Given the description of an element on the screen output the (x, y) to click on. 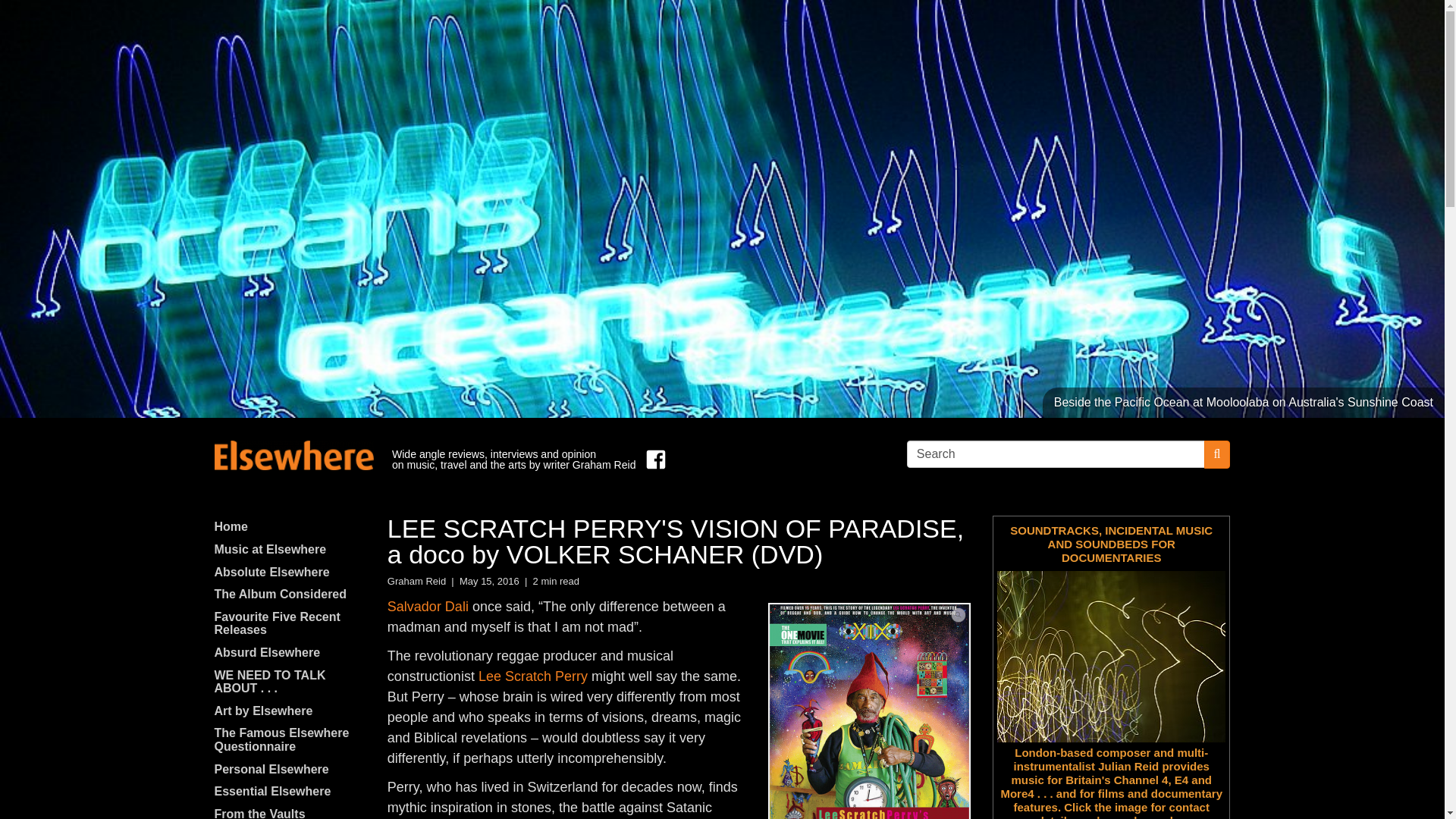
Search (1056, 453)
Elsewhere by Graham Reid (293, 455)
Search (1056, 453)
Find us on Facebook (652, 459)
